Given the description of an element on the screen output the (x, y) to click on. 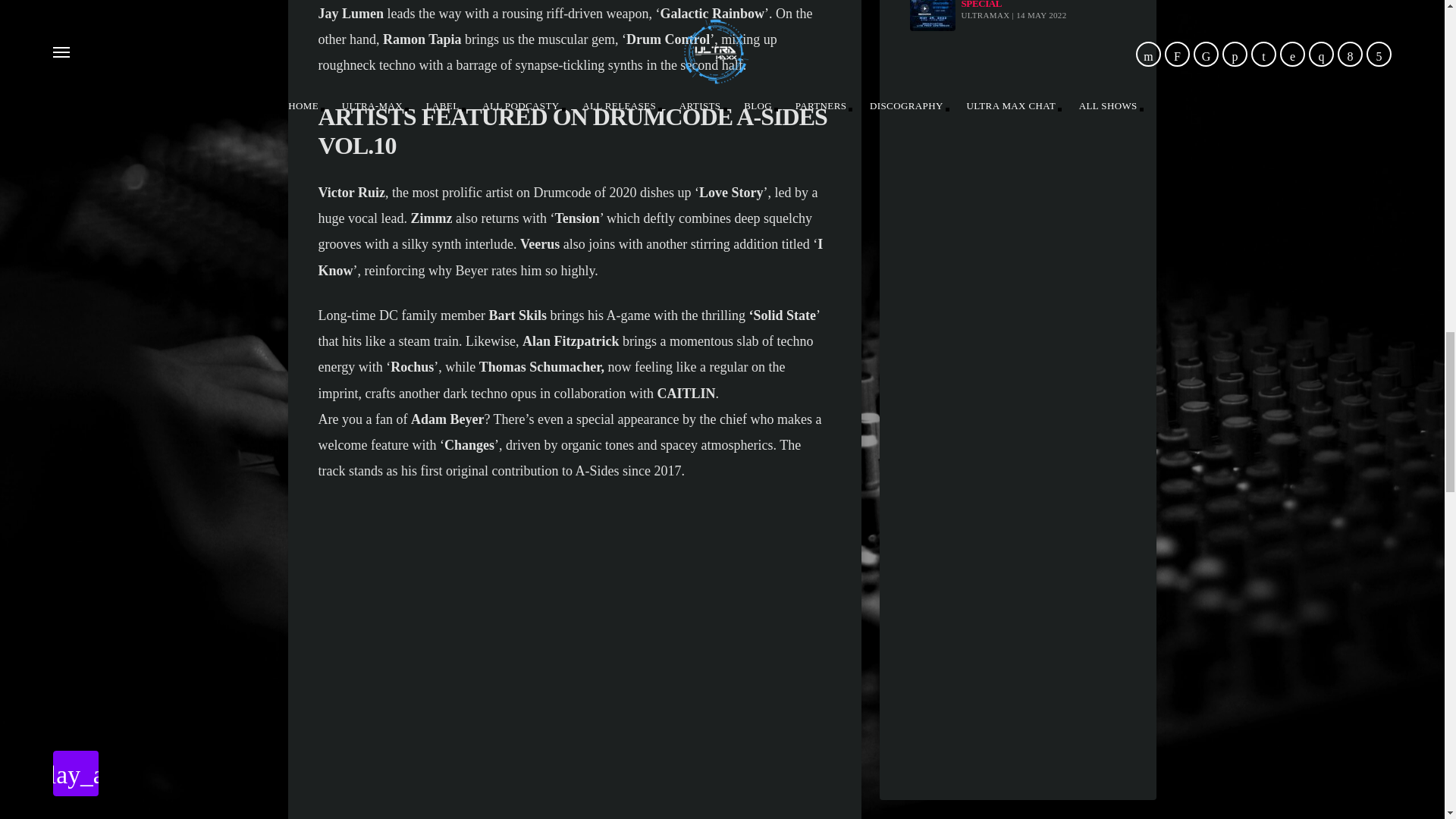
Spotify Embed: Ultra Master Records New Release (1018, 609)
